Given the description of an element on the screen output the (x, y) to click on. 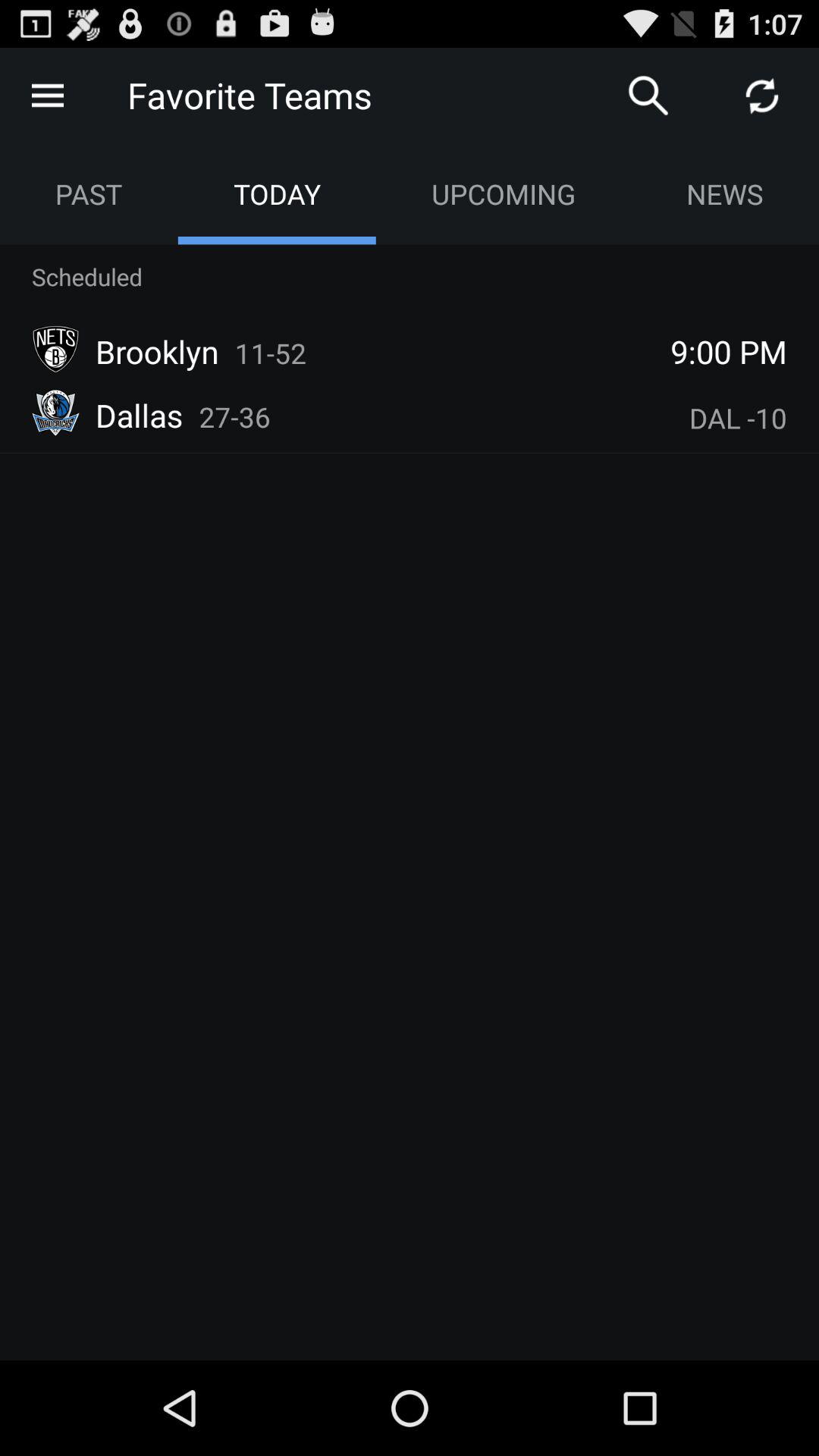
press the app next to the news (502, 193)
